Given the description of an element on the screen output the (x, y) to click on. 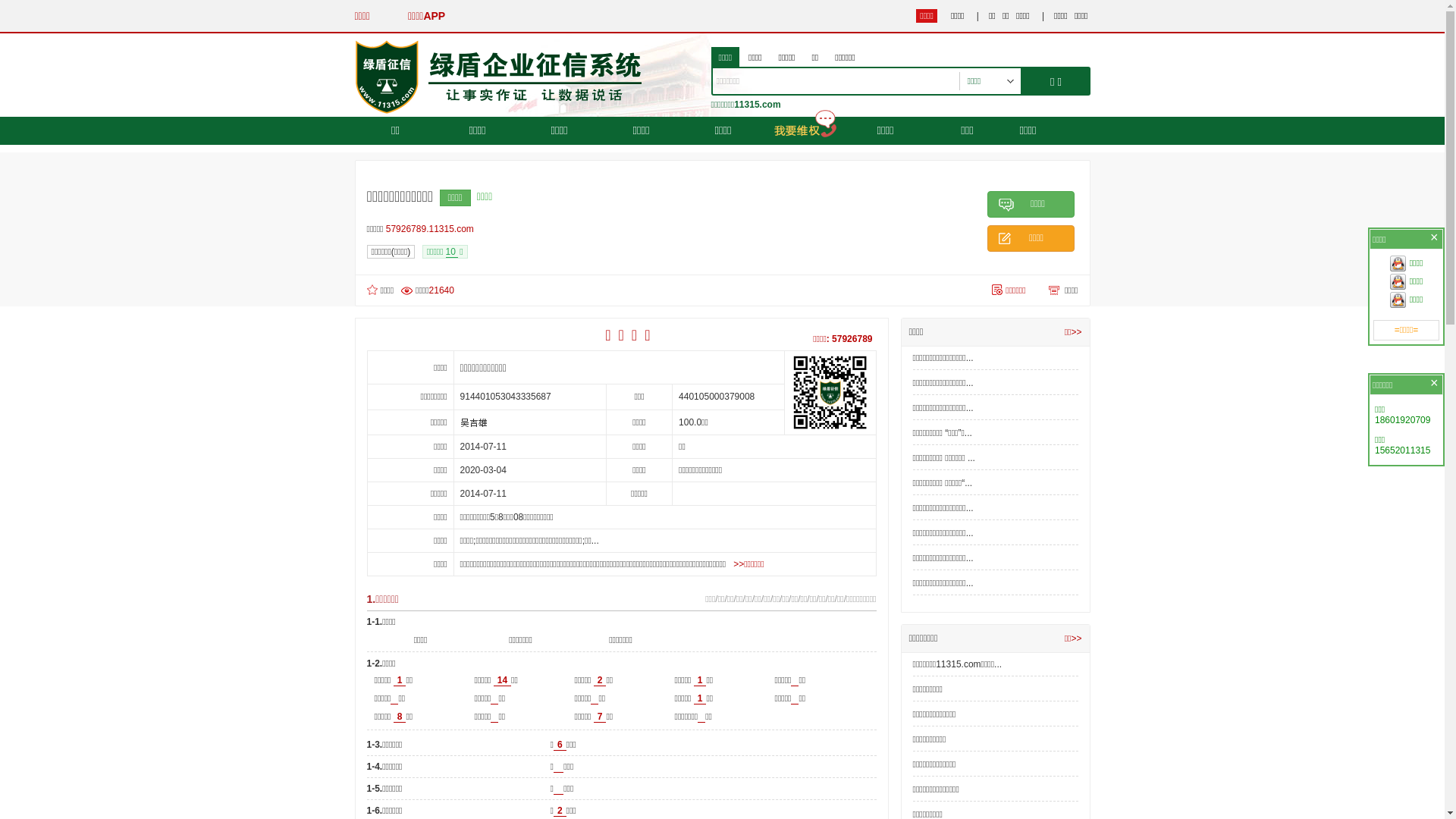
  Element type: text (558, 788)
1 Element type: text (699, 698)
7 Element type: text (599, 716)
  Element type: text (558, 766)
2 Element type: text (559, 810)
1 Element type: text (699, 680)
57926789.11315.com Element type: text (433, 228)
14 Element type: text (502, 680)
6 Element type: text (559, 744)
8 Element type: text (399, 716)
2 Element type: text (599, 680)
1 Element type: text (399, 680)
